Given the description of an element on the screen output the (x, y) to click on. 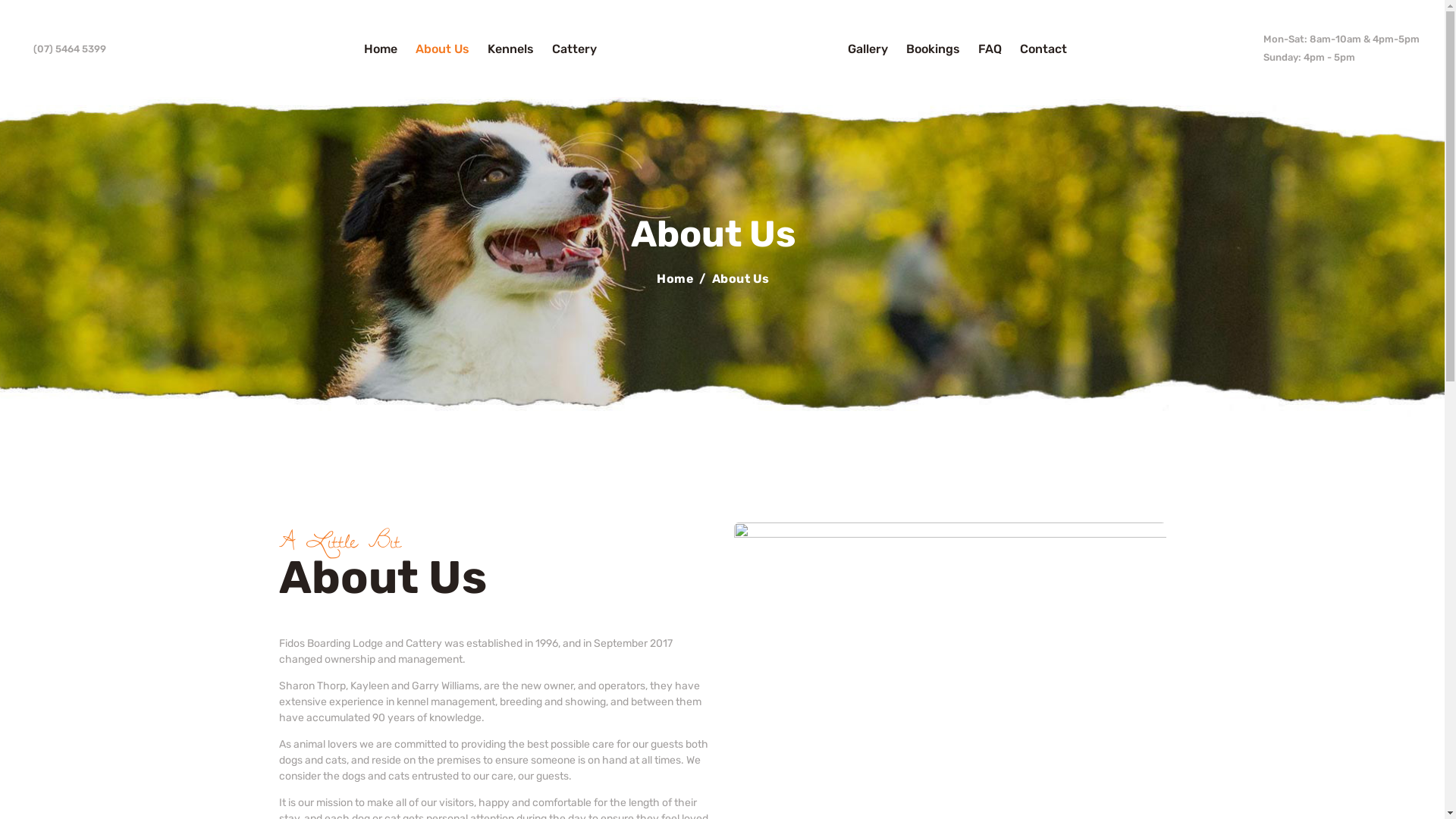
Gallery Element type: text (867, 48)
(07) 5464 5399 Element type: text (65, 48)
Kennels Element type: text (510, 48)
FAQ Element type: text (989, 48)
Home Element type: text (380, 48)
Home Element type: text (674, 278)
Cattery Element type: text (573, 48)
Bookings Element type: text (933, 48)
Contact Element type: text (1043, 48)
About Us Element type: text (442, 48)
